Given the description of an element on the screen output the (x, y) to click on. 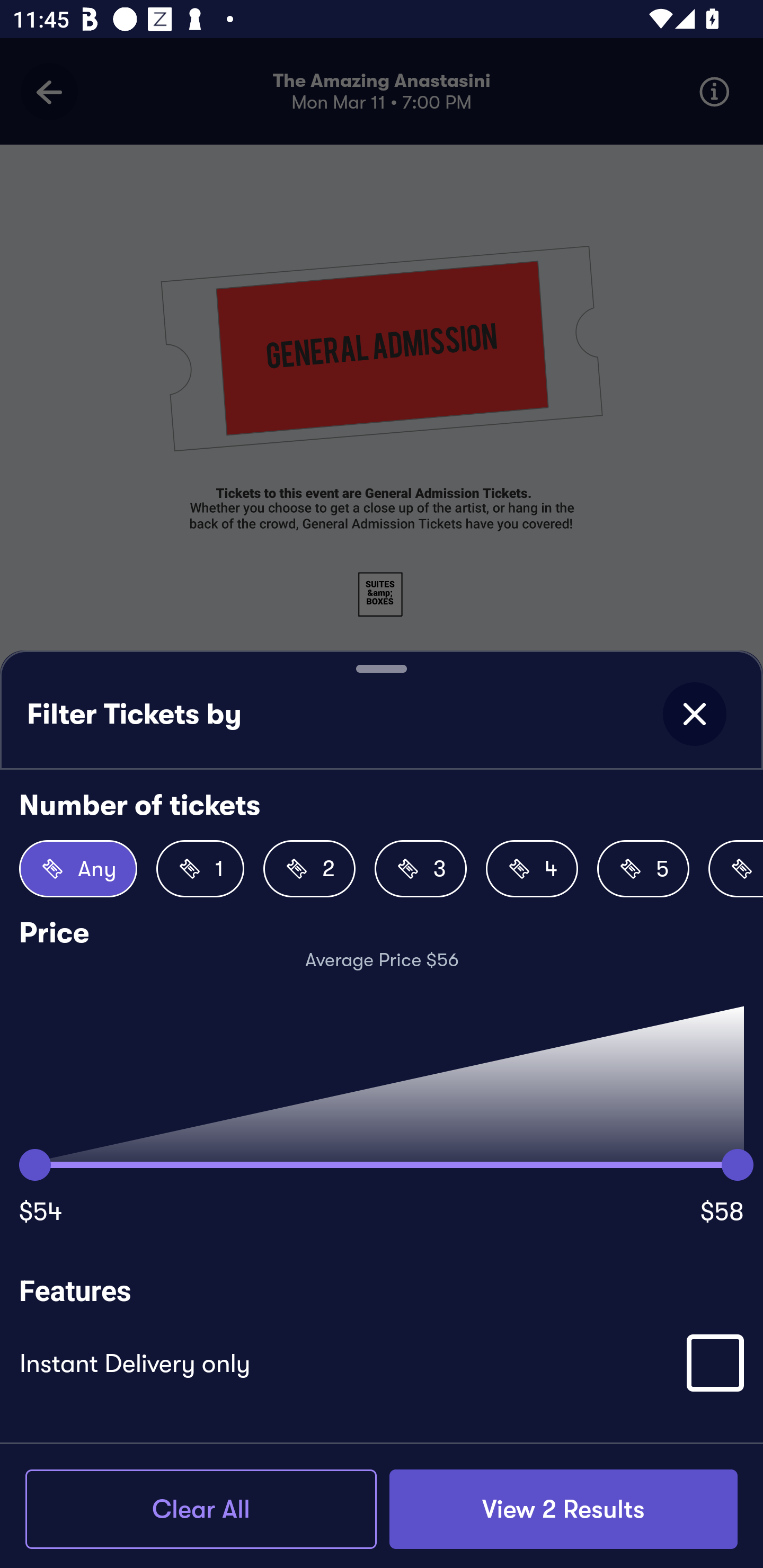
close (694, 714)
Any (78, 868)
1 (200, 868)
2 (309, 868)
3 (420, 868)
4 (532, 868)
5 (642, 868)
Clear All (200, 1509)
View 2 Results (563, 1509)
